Given the description of an element on the screen output the (x, y) to click on. 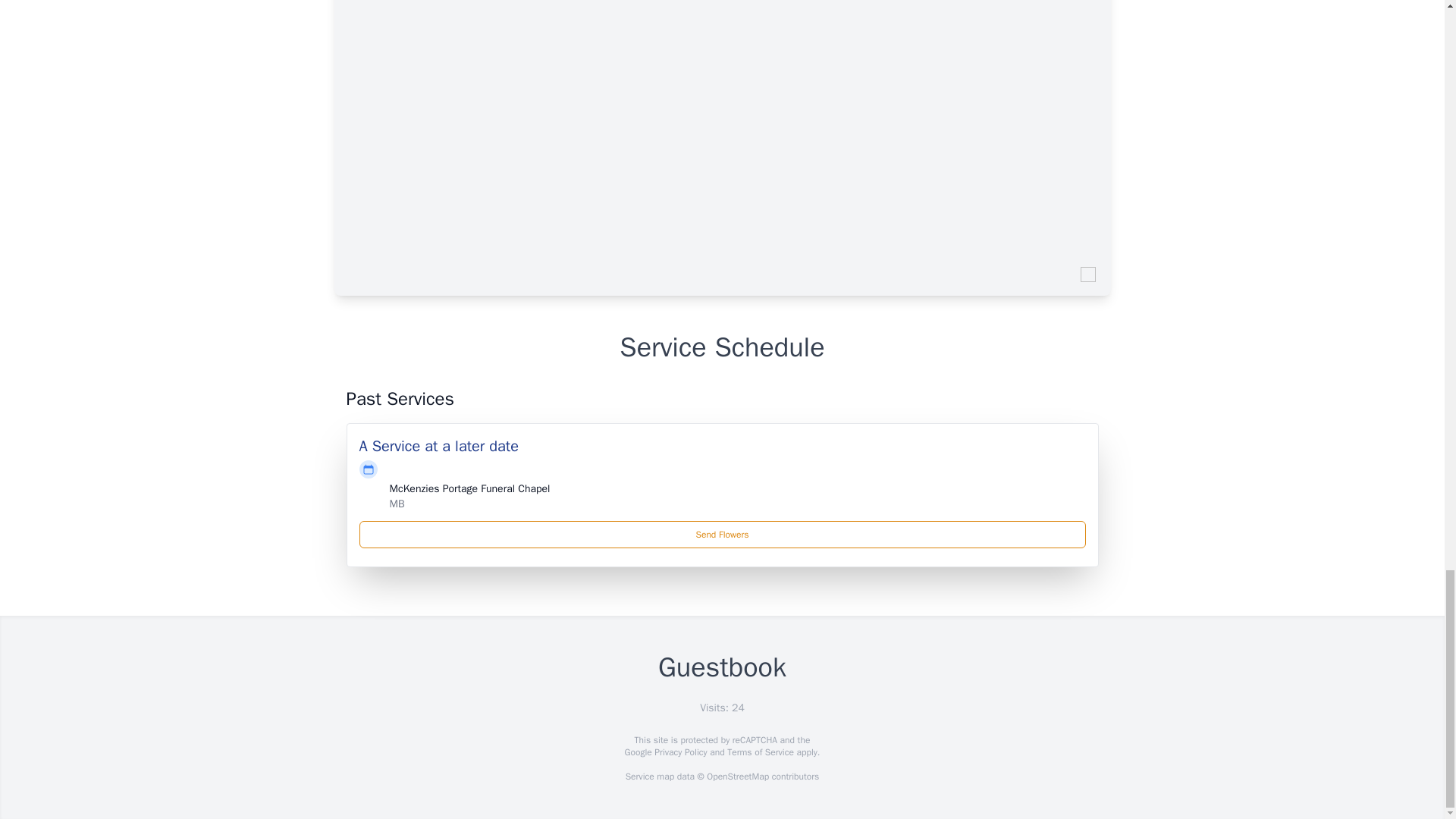
Privacy Policy (679, 752)
OpenStreetMap (737, 776)
Terms of Service (759, 752)
Send Flowers (722, 533)
MB (397, 503)
